Given the description of an element on the screen output the (x, y) to click on. 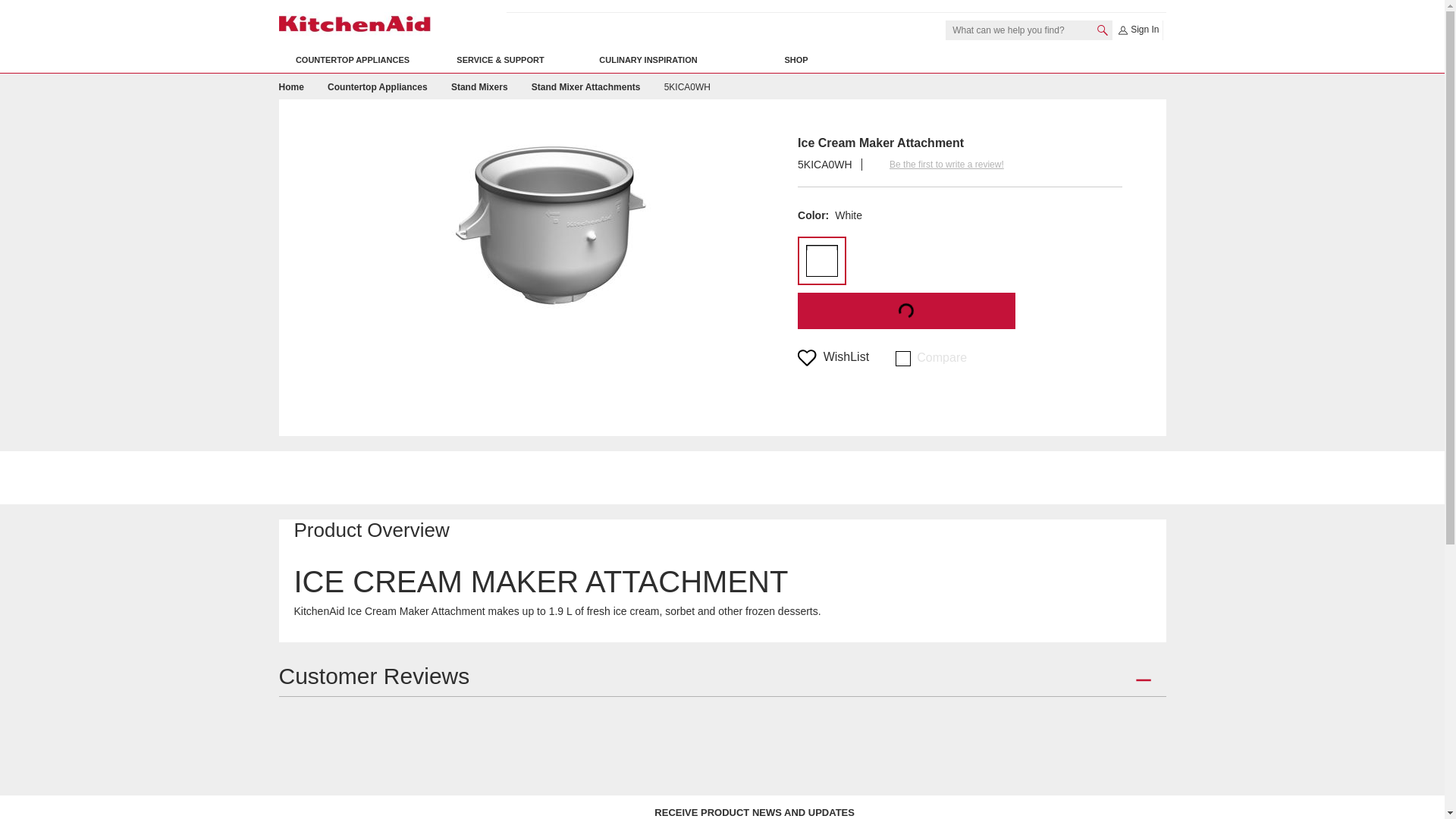
White Ice Cream Maker Attachment (686, 86)
KitchenAid (354, 24)
Sign In (1138, 30)
Sign In (1138, 30)
SHOP (795, 59)
CULINARY INSPIRATION (648, 59)
COUNTERTOP APPLIANCES (352, 59)
